Given the description of an element on the screen output the (x, y) to click on. 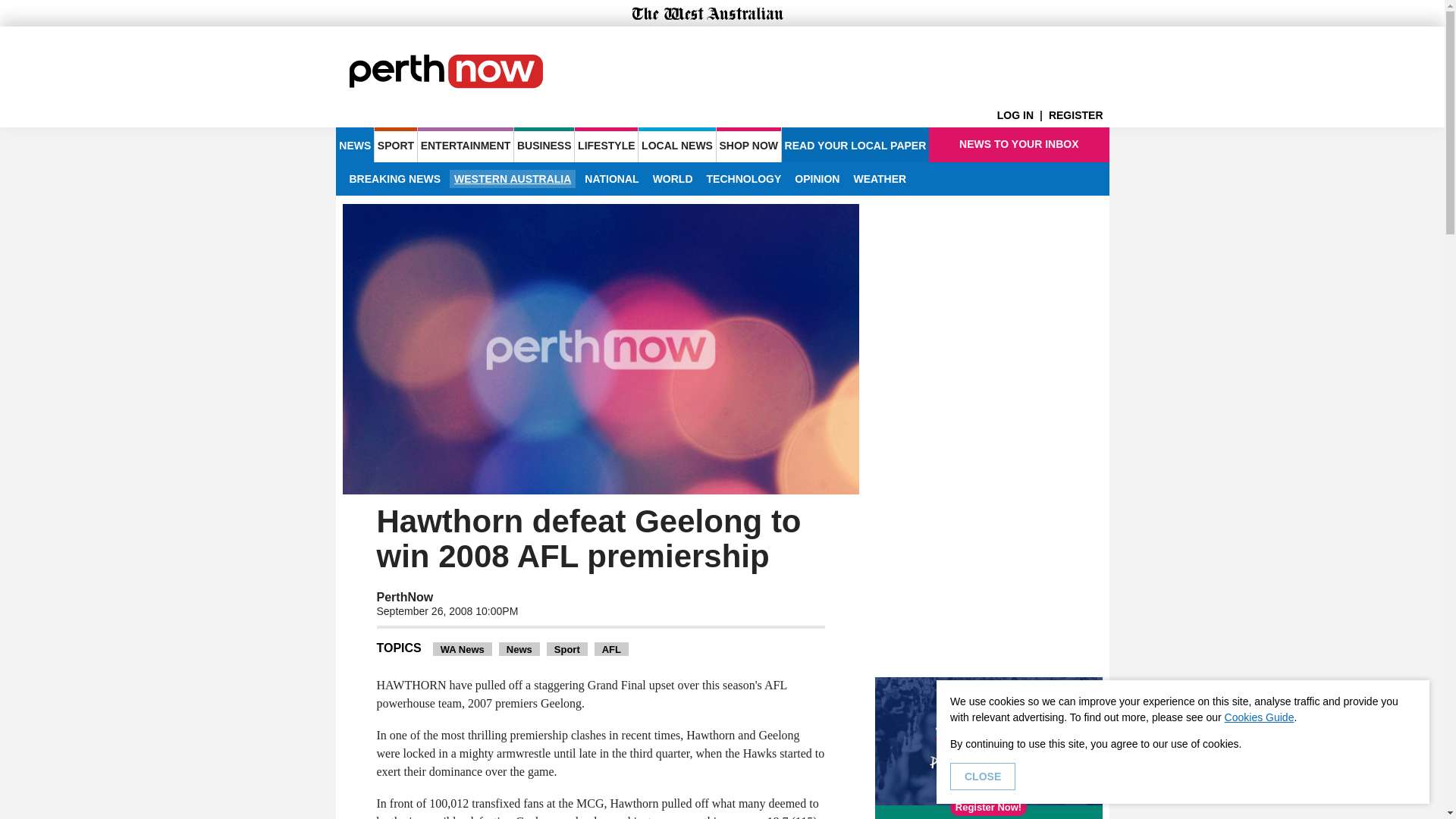
REGISTER (1078, 115)
SPORT (395, 144)
NEWS (354, 144)
ENTERTAINMENT (465, 144)
LOG IN (1022, 115)
